Given the description of an element on the screen output the (x, y) to click on. 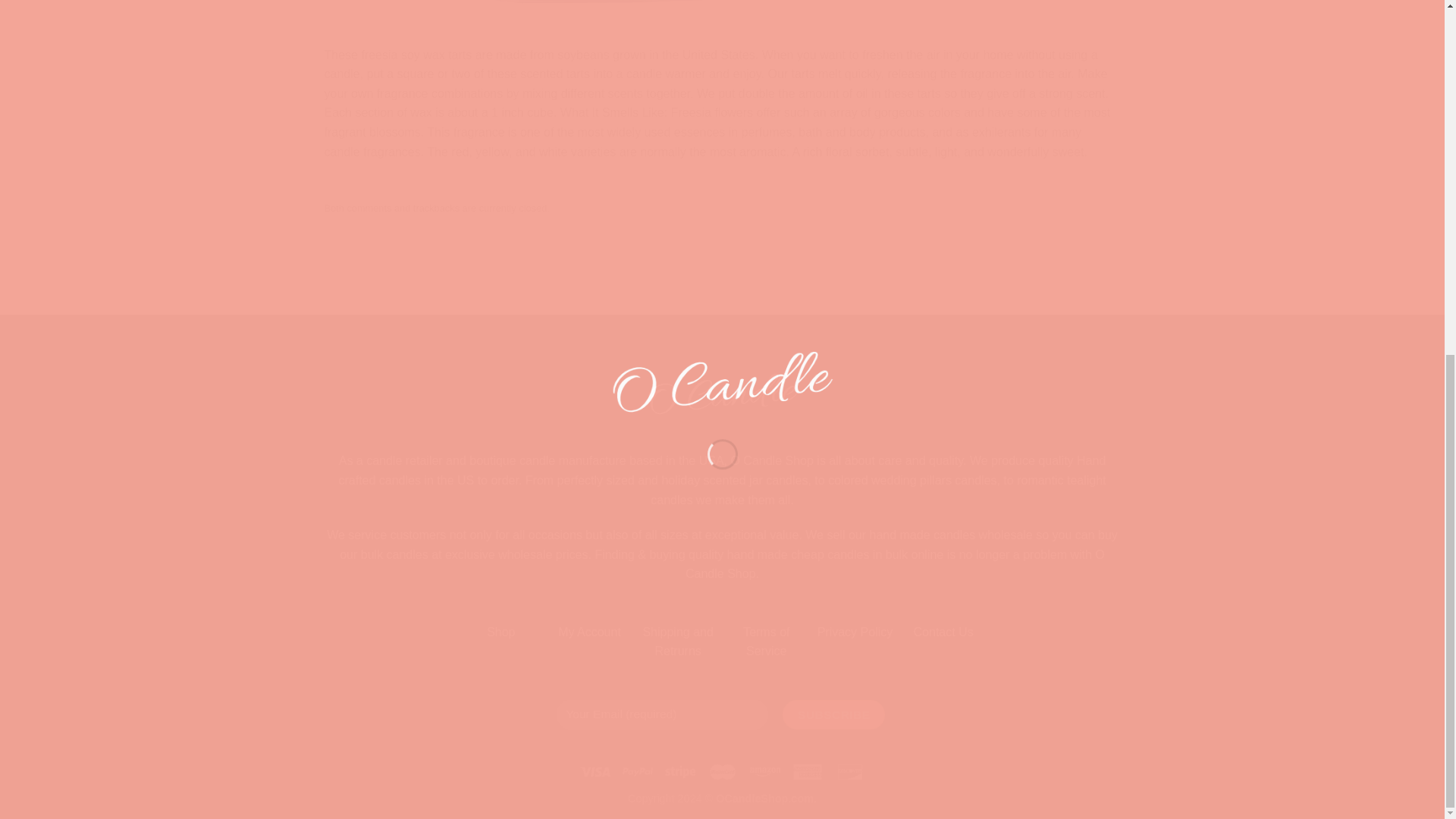
Subscribe (834, 714)
Shop (500, 631)
